Given the description of an element on the screen output the (x, y) to click on. 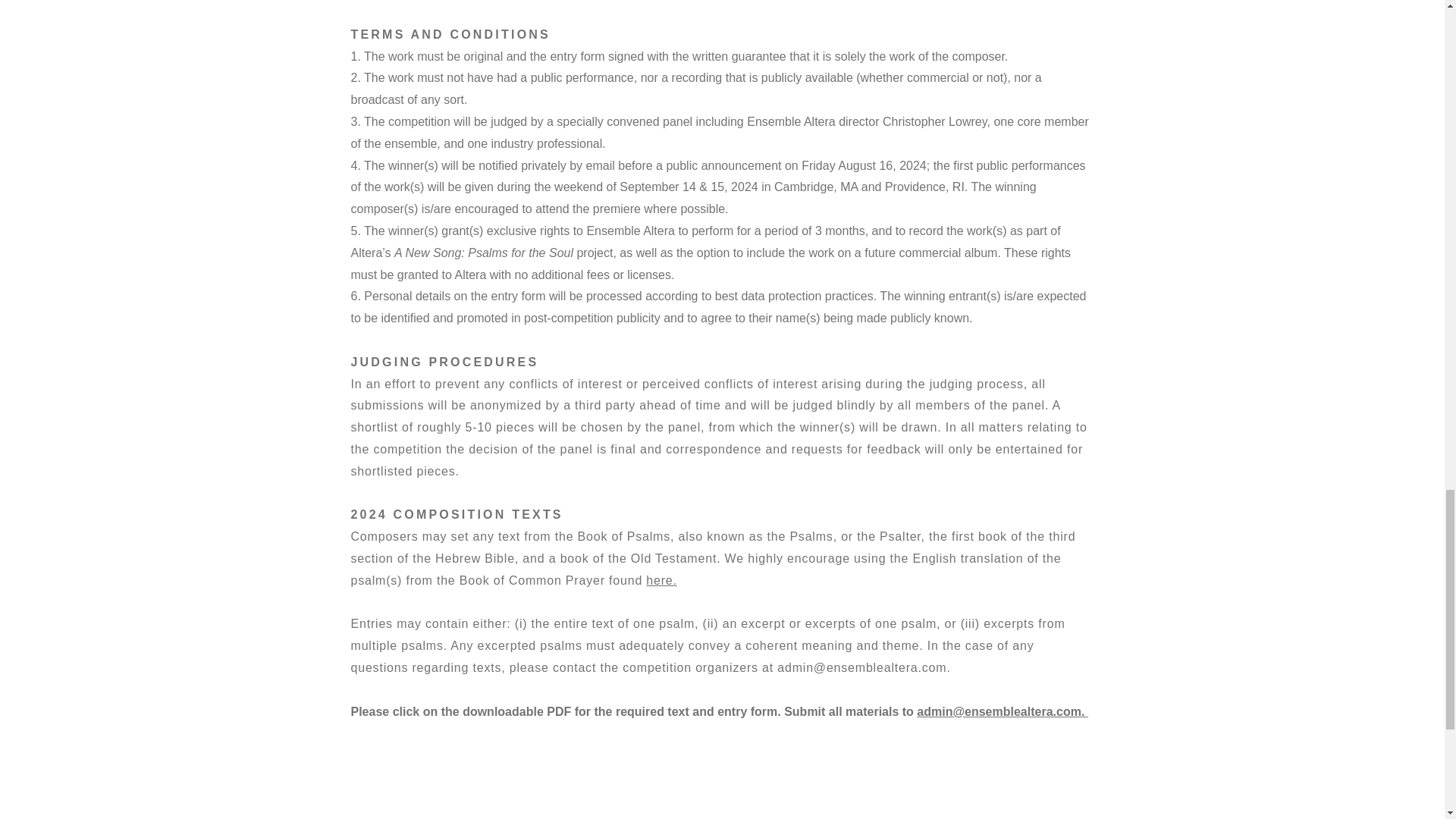
here. (661, 580)
